Given the description of an element on the screen output the (x, y) to click on. 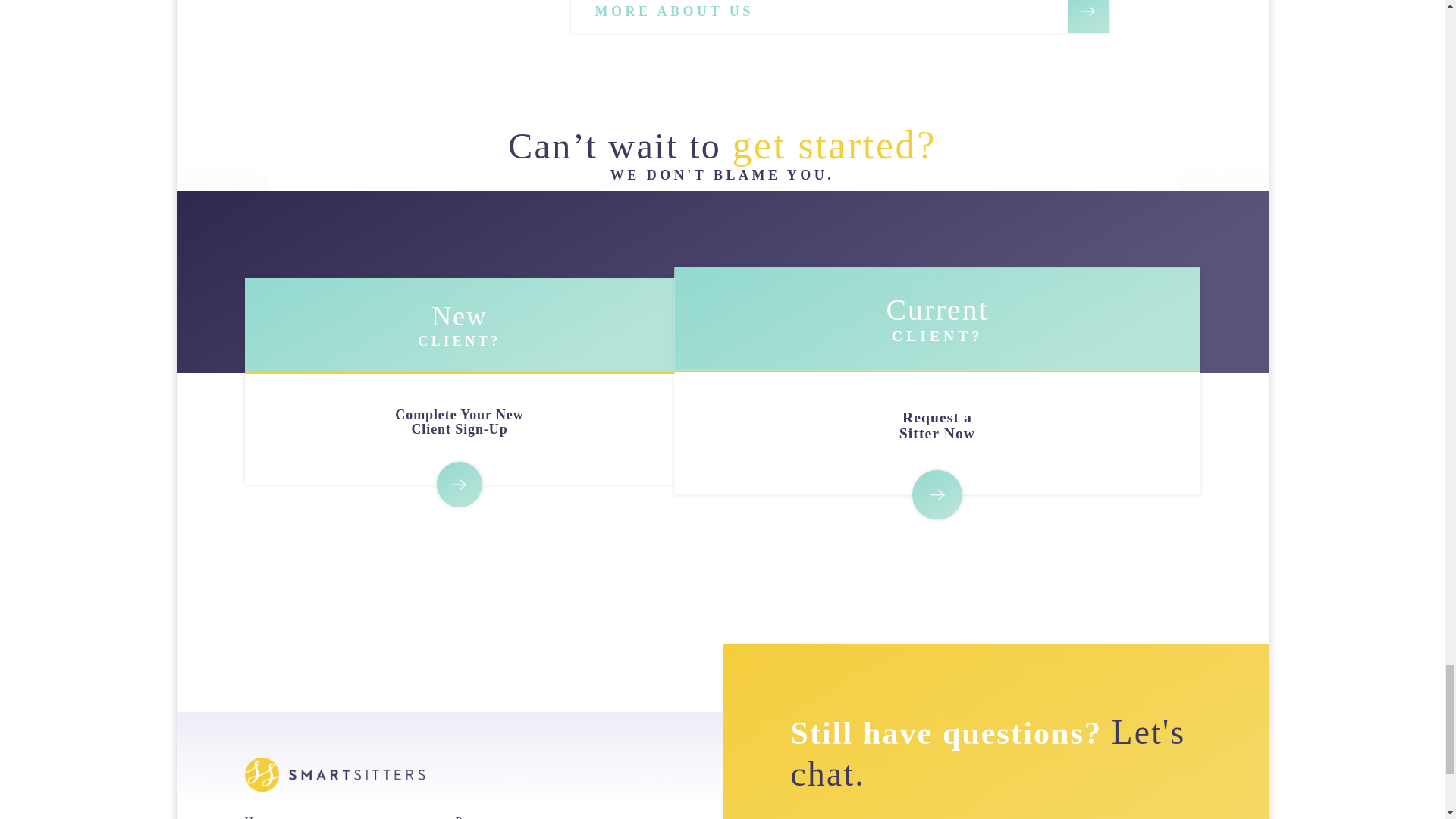
Process (475, 816)
Home (260, 816)
